Given the description of an element on the screen output the (x, y) to click on. 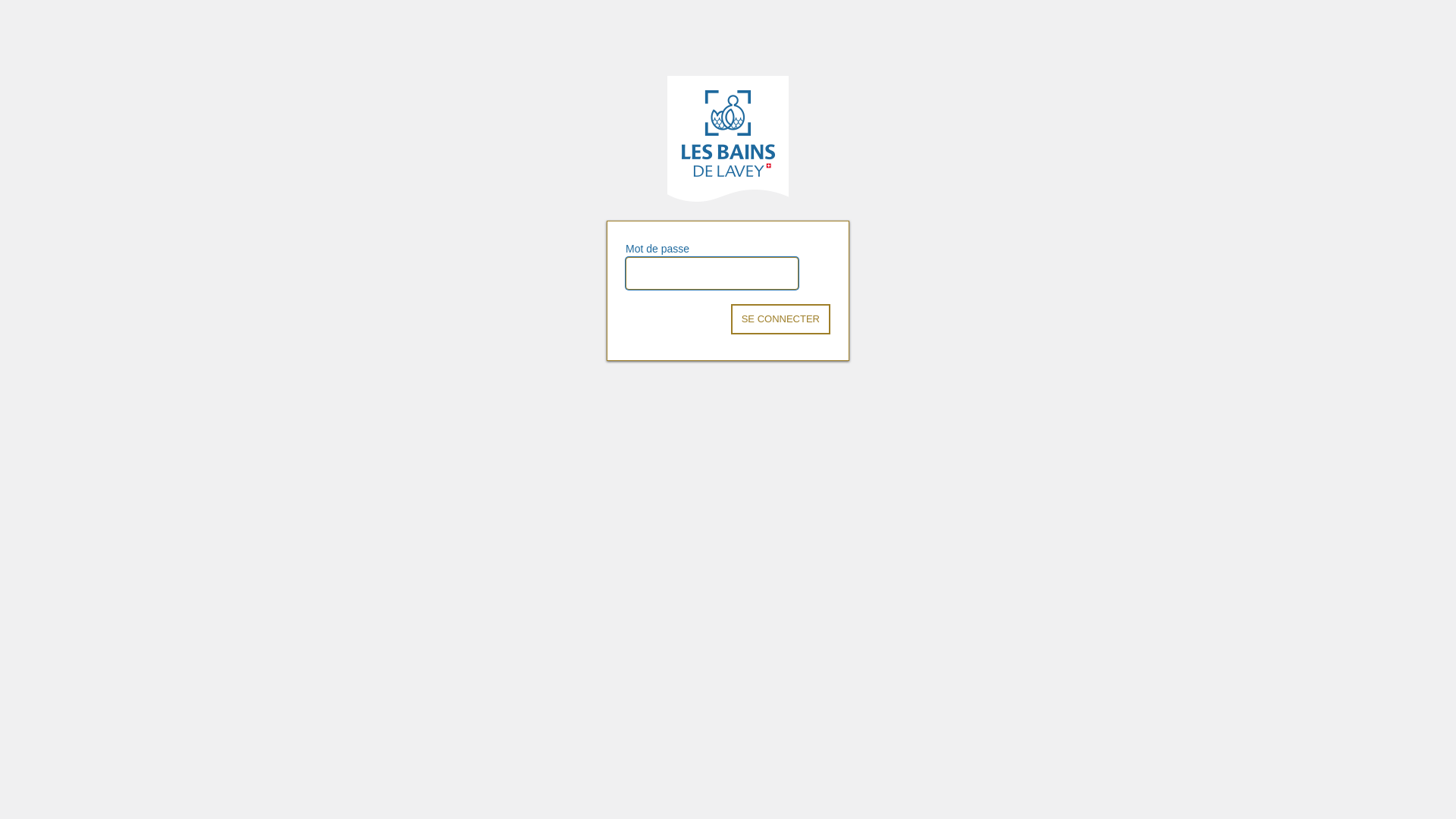
Les Bains de Lavey Element type: text (727, 138)
Se connecter Element type: text (780, 319)
